Given the description of an element on the screen output the (x, y) to click on. 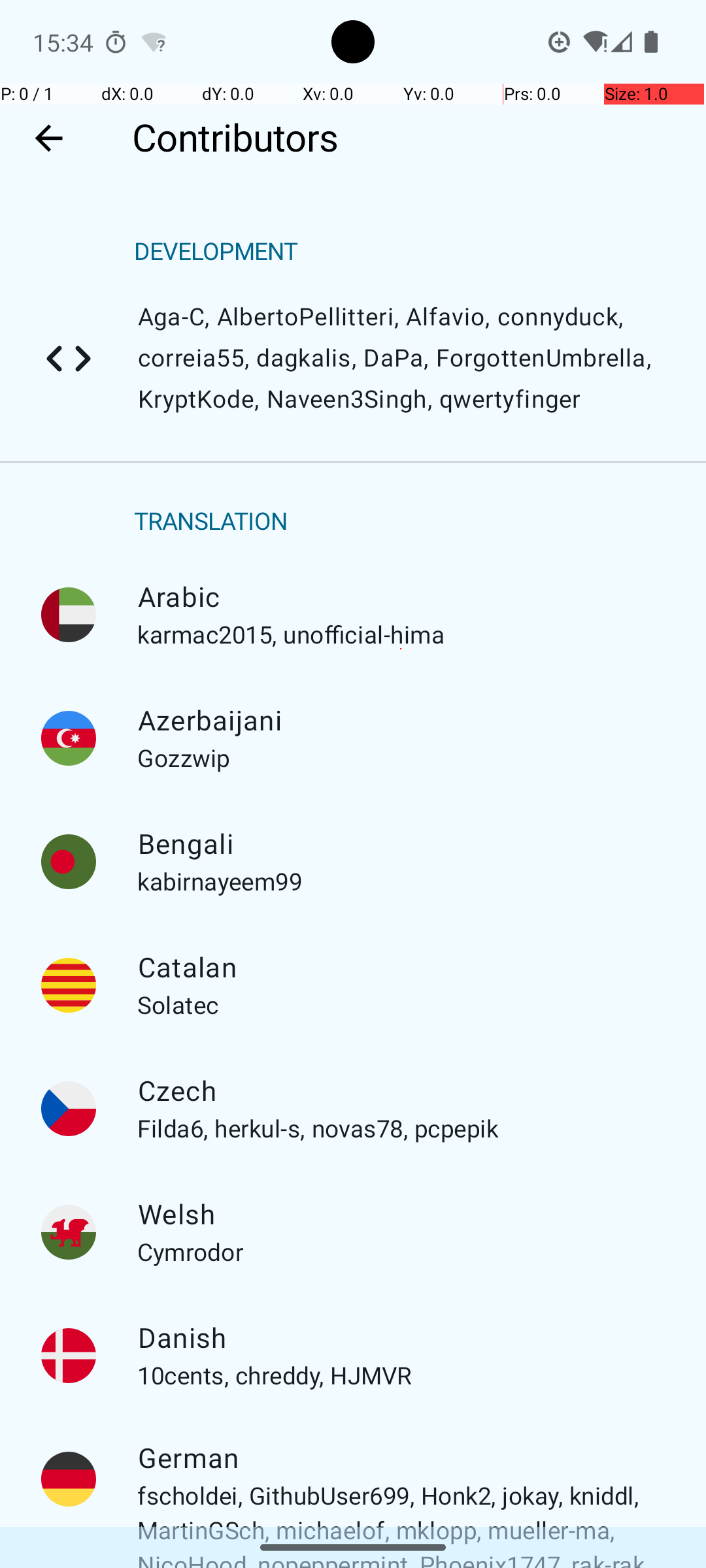
DEVELOPMENT Element type: android.widget.TextView (216, 251)
TRANSLATION Element type: android.widget.TextView (211, 521)
Aga-C, AlbertoPellitteri, Alfavio, connyduck, correia55, dagkalis, DaPa, ForgottenUmbrella, KryptKode, Naveen3Singh, qwertyfinger Element type: android.view.View (68, 358)
karmac2015, unofficial-hima Element type: android.view.View (68, 614)
Arabic Element type: android.widget.TextView (400, 597)
Gozzwip Element type: android.view.View (68, 737)
Azerbaijani Element type: android.widget.TextView (400, 720)
kabirnayeem99 Element type: android.view.View (68, 861)
Bengali Element type: android.widget.TextView (400, 844)
Solatec Element type: android.view.View (68, 984)
Catalan Element type: android.widget.TextView (400, 967)
Filda6, herkul-s, novas78, pcpepik Element type: android.view.View (68, 1108)
Czech Element type: android.widget.TextView (400, 1090)
Cymrodor Element type: android.view.View (68, 1231)
Welsh Element type: android.widget.TextView (400, 1214)
10cents, chreddy, HJMVR Element type: android.view.View (68, 1355)
Danish Element type: android.widget.TextView (400, 1337)
fscholdei, GithubUser699, Honk2, jokay, kniddl, MartinGSch, michaelof, mklopp, mueller-ma, NicoHood, nopeppermint, Phoenix1747, rak-rak, sodewe, wistein Element type: android.view.View (68, 1478)
German Element type: android.widget.TextView (400, 1458)
